Given the description of an element on the screen output the (x, y) to click on. 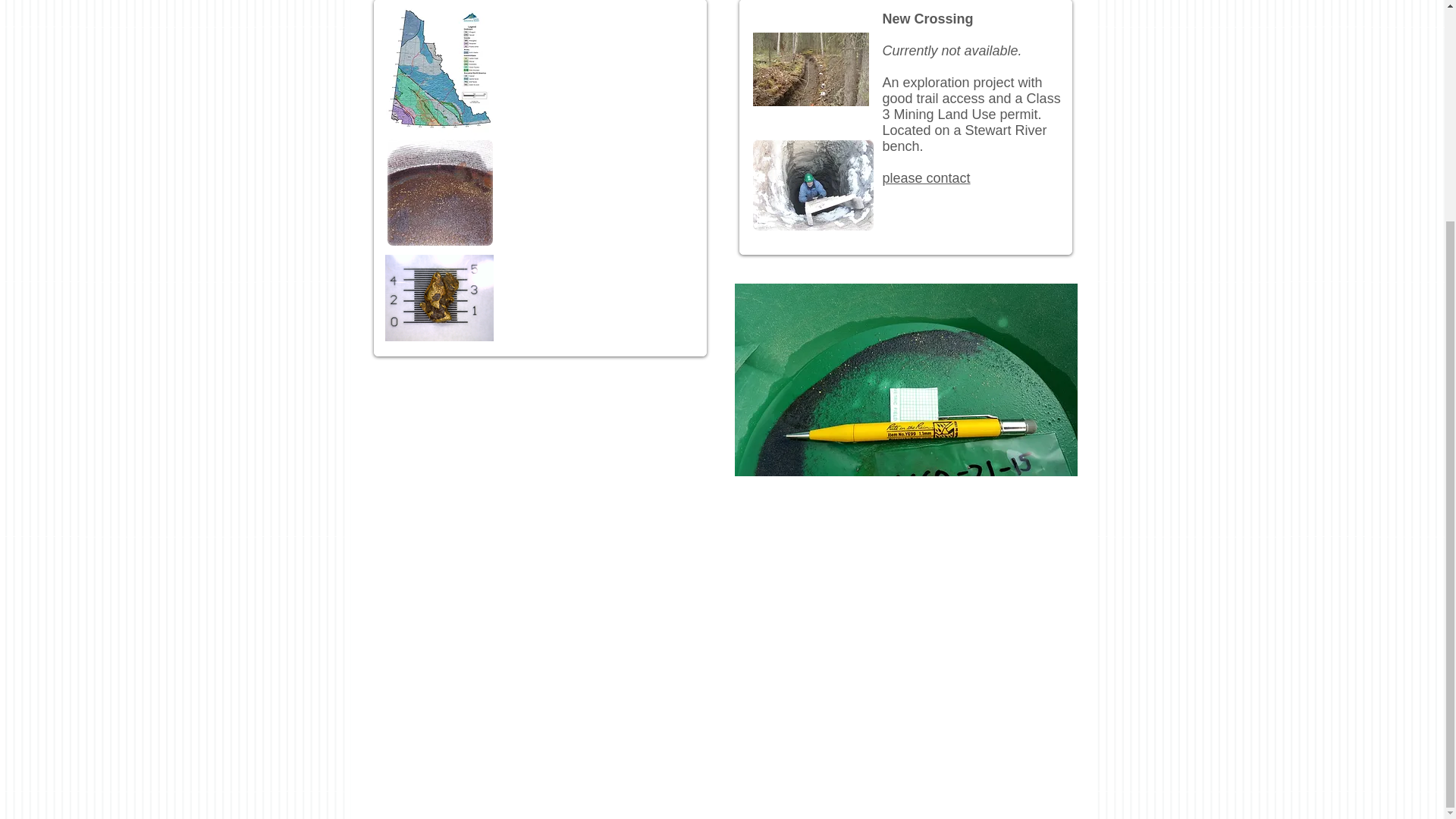
Exploration shaft in frozen ground (812, 184)
please contact (926, 177)
RAB drill sample (439, 192)
sampling at New Crossing (809, 69)
scale bar 5mm (439, 297)
New Crossing trench sample (905, 379)
